Given the description of an element on the screen output the (x, y) to click on. 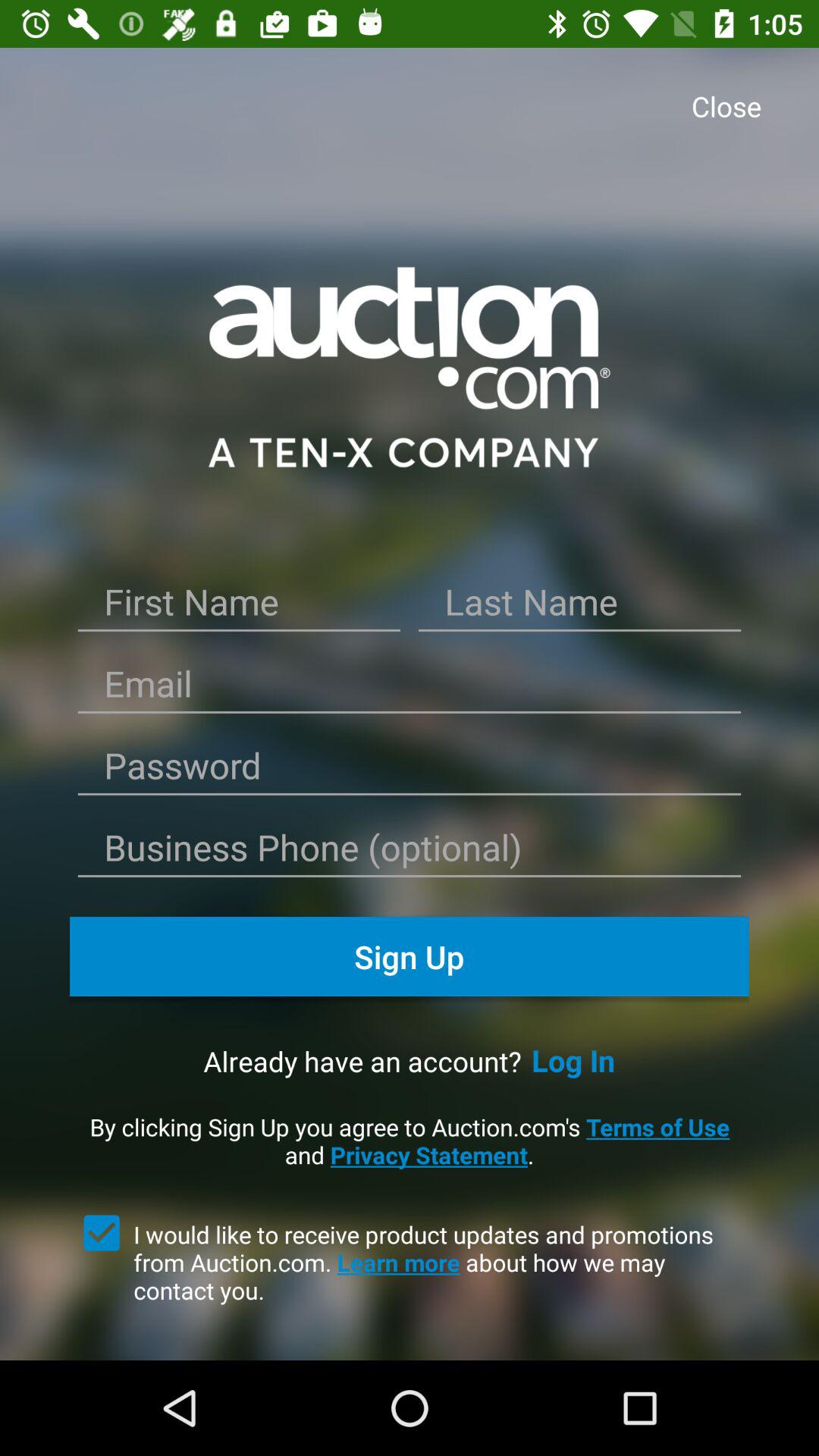
type new password to sign up (409, 771)
